Given the description of an element on the screen output the (x, y) to click on. 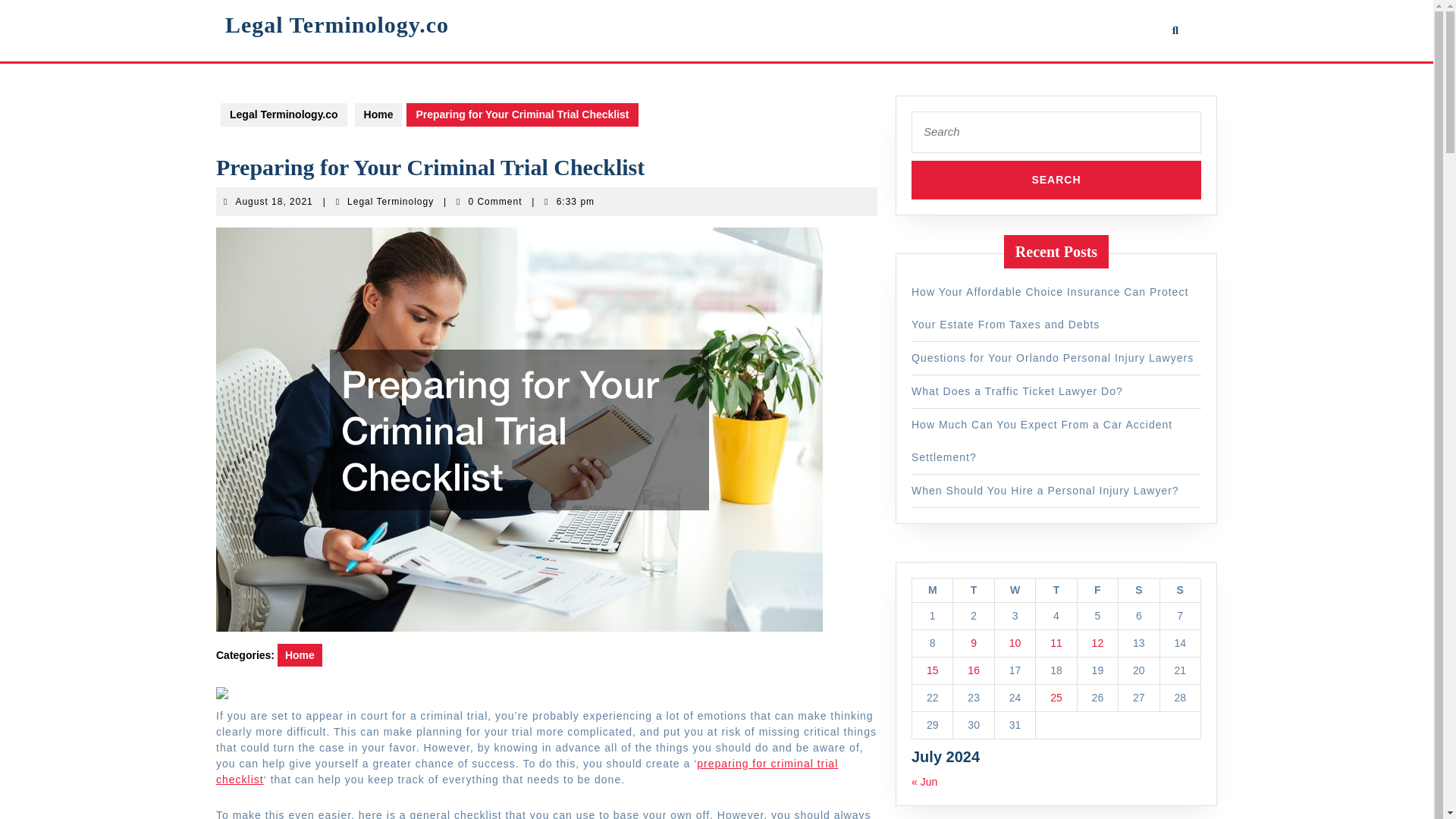
Home (379, 114)
preparing for criminal trial checklist (526, 771)
Questions for Your Orlando Personal Injury Lawyers (1052, 357)
Legal Terminology.co (336, 24)
Search (1056, 179)
Sunday (1178, 589)
Home (299, 654)
Saturday (390, 201)
Monday (1138, 589)
Friday (931, 589)
What Does a Traffic Ticket Lawyer Do? (1097, 589)
Legal Terminology.co (1016, 390)
How Much Can You Expect From a Car Accident Settlement? (284, 114)
Search (1041, 440)
